Given the description of an element on the screen output the (x, y) to click on. 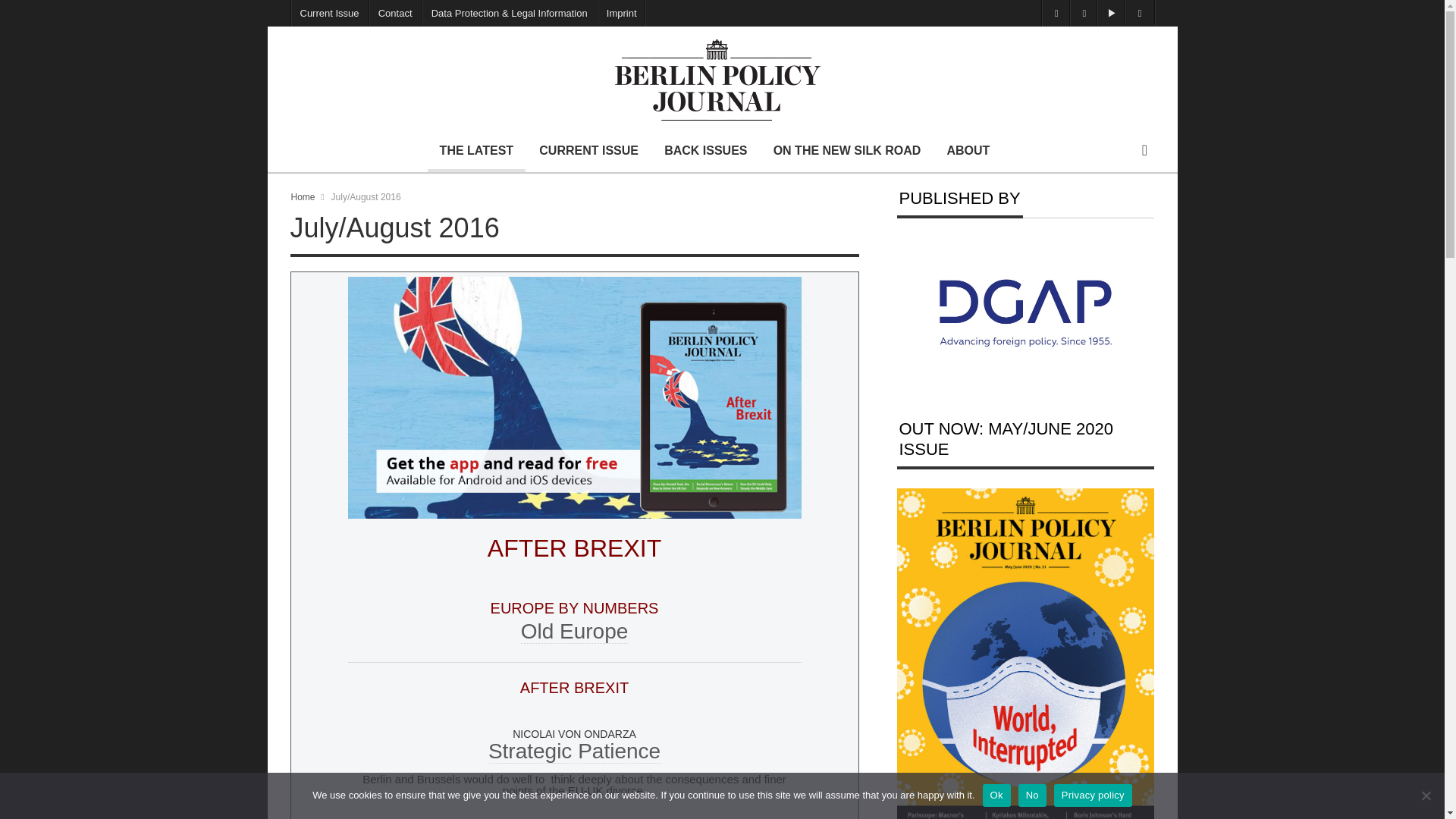
THE LATEST (476, 150)
Current Issue (328, 13)
BACK ISSUES (705, 150)
Strategic Patience (574, 751)
CURRENT ISSUE (588, 150)
ABOUT (967, 150)
Contact (394, 13)
ON THE NEW SILK ROAD (847, 150)
No (1425, 795)
Home (303, 196)
Old Europe (574, 631)
Imprint (621, 13)
